Given the description of an element on the screen output the (x, y) to click on. 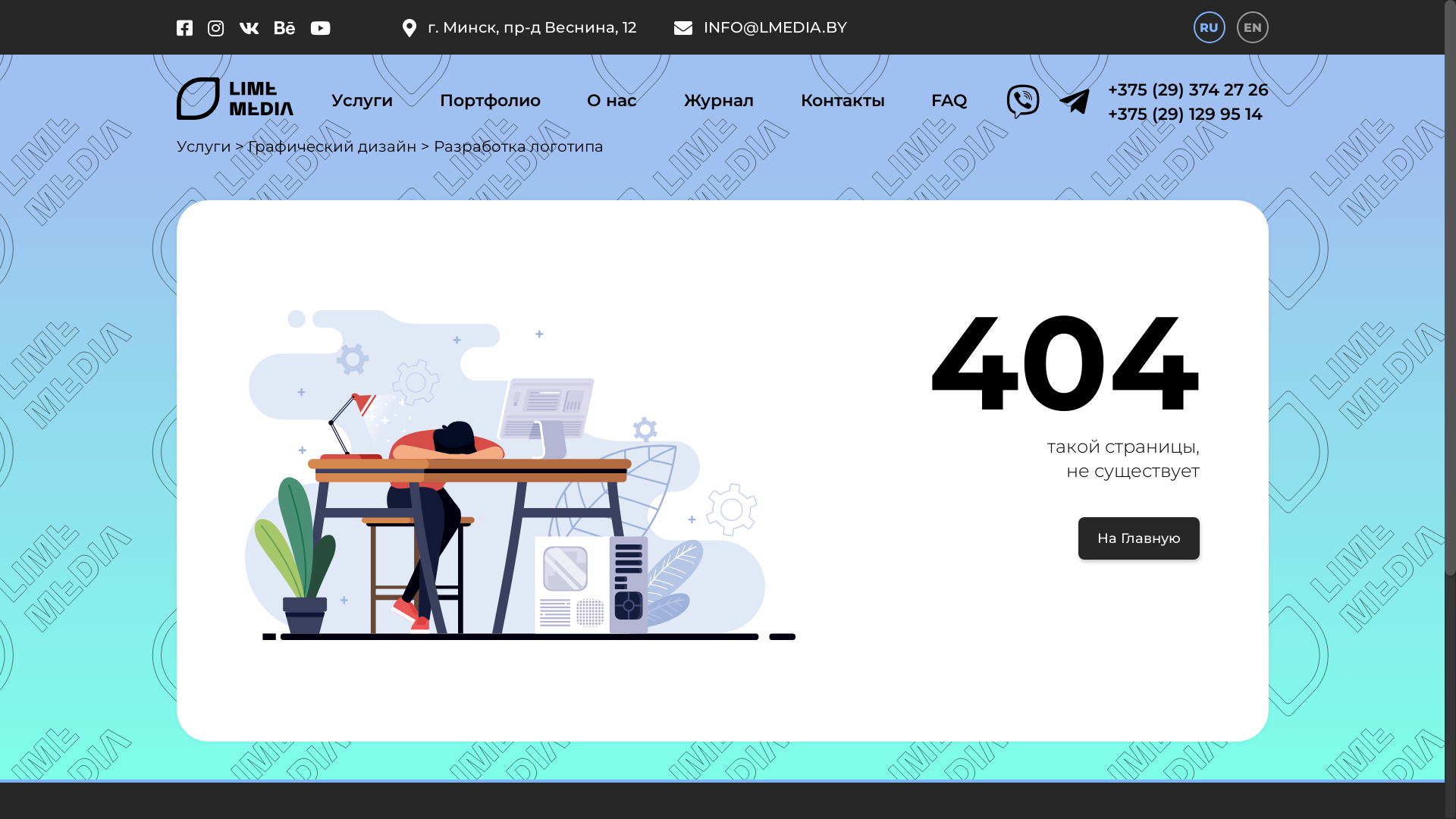
EN Element type: text (1251, 27)
+375 (29) 129 95 14 Element type: text (1187, 114)
FAQ Element type: text (949, 102)
+375 (29) 374 27 26 Element type: text (1187, 90)
INFO@LMEDIA.BY Element type: text (759, 27)
RU Element type: text (1209, 27)
